Given the description of an element on the screen output the (x, y) to click on. 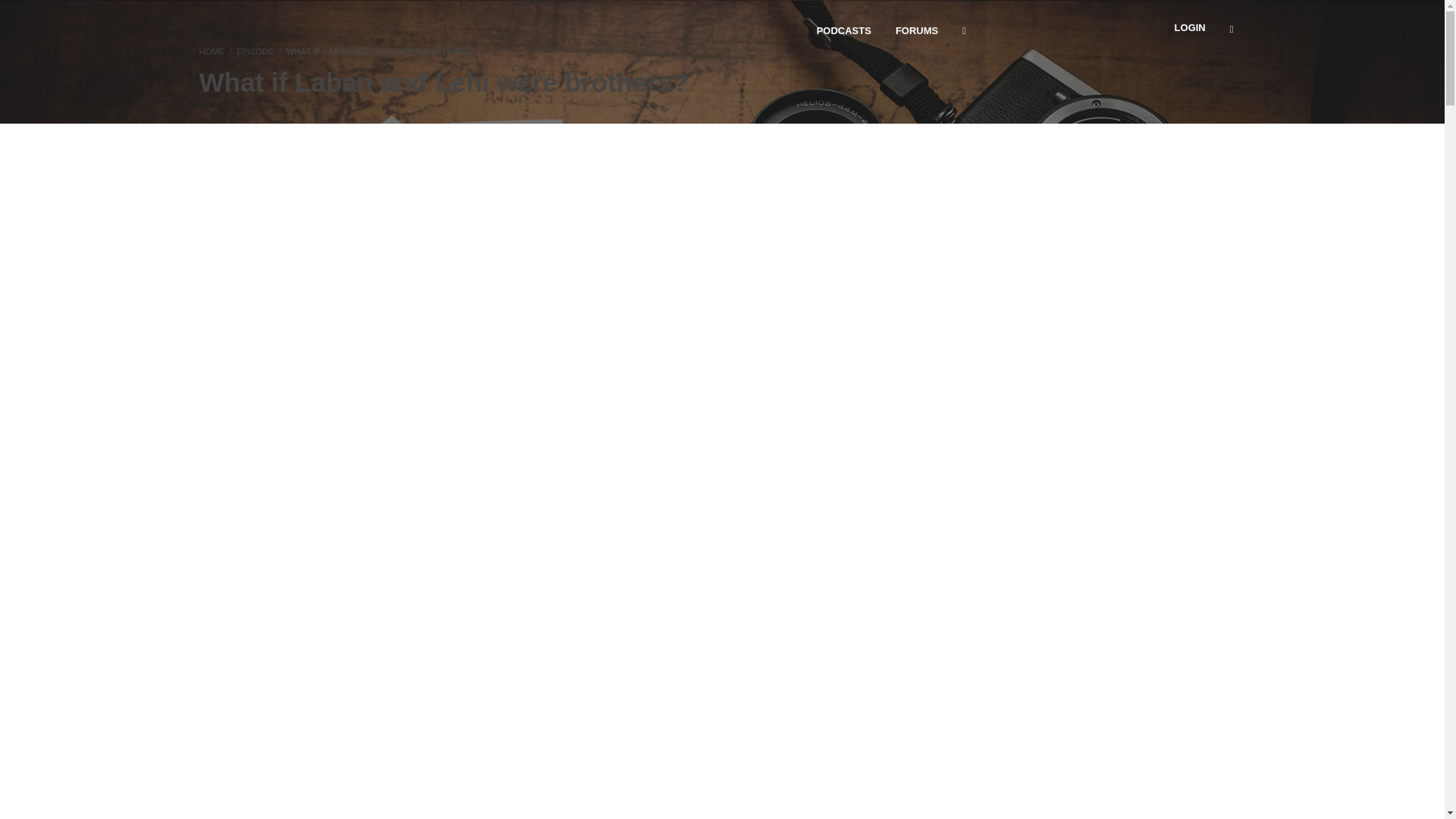
PODCASTS (844, 30)
EPISODE (254, 51)
HOME (211, 51)
